Given the description of an element on the screen output the (x, y) to click on. 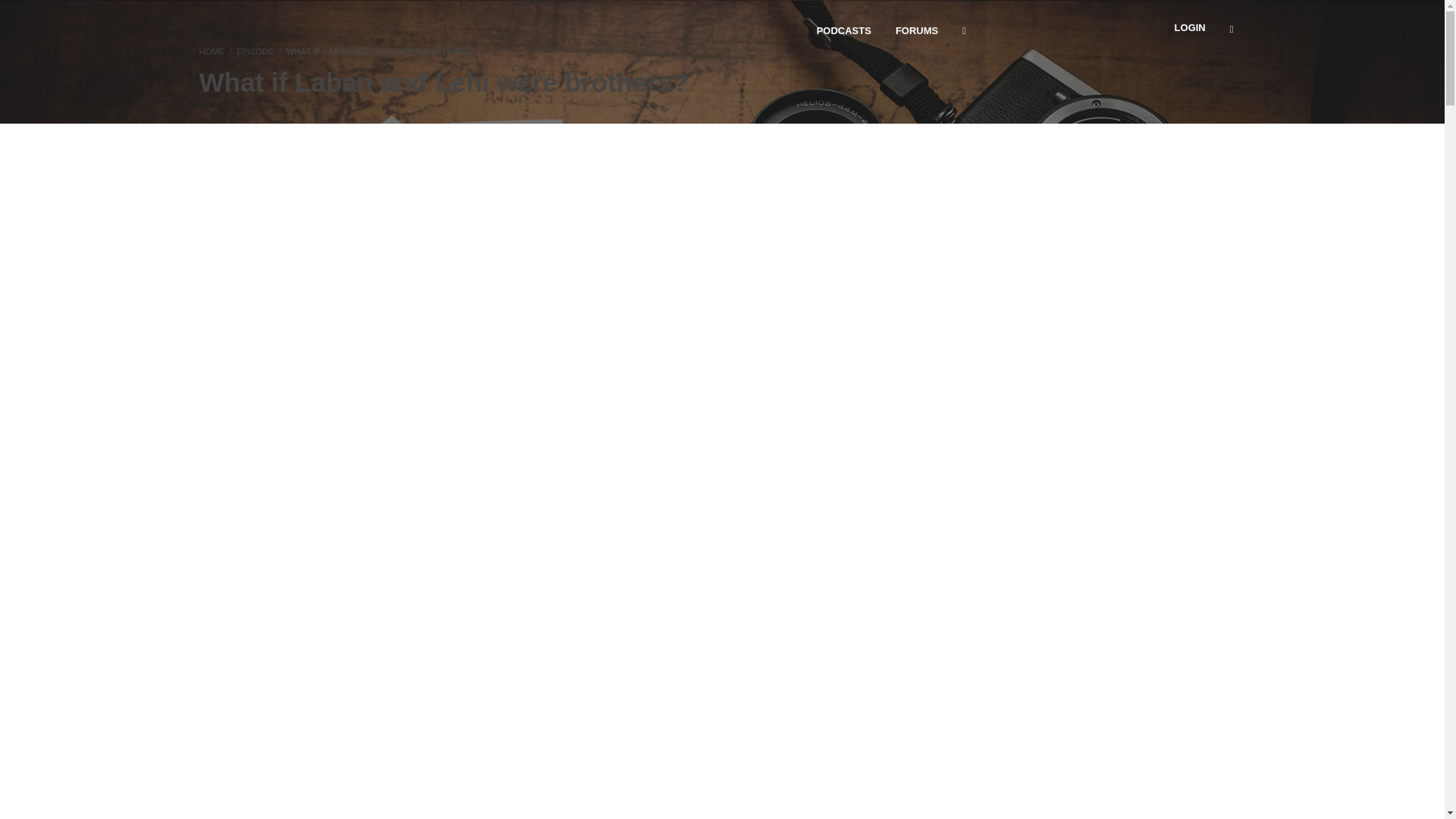
PODCASTS (844, 30)
EPISODE (254, 51)
HOME (211, 51)
